Given the description of an element on the screen output the (x, y) to click on. 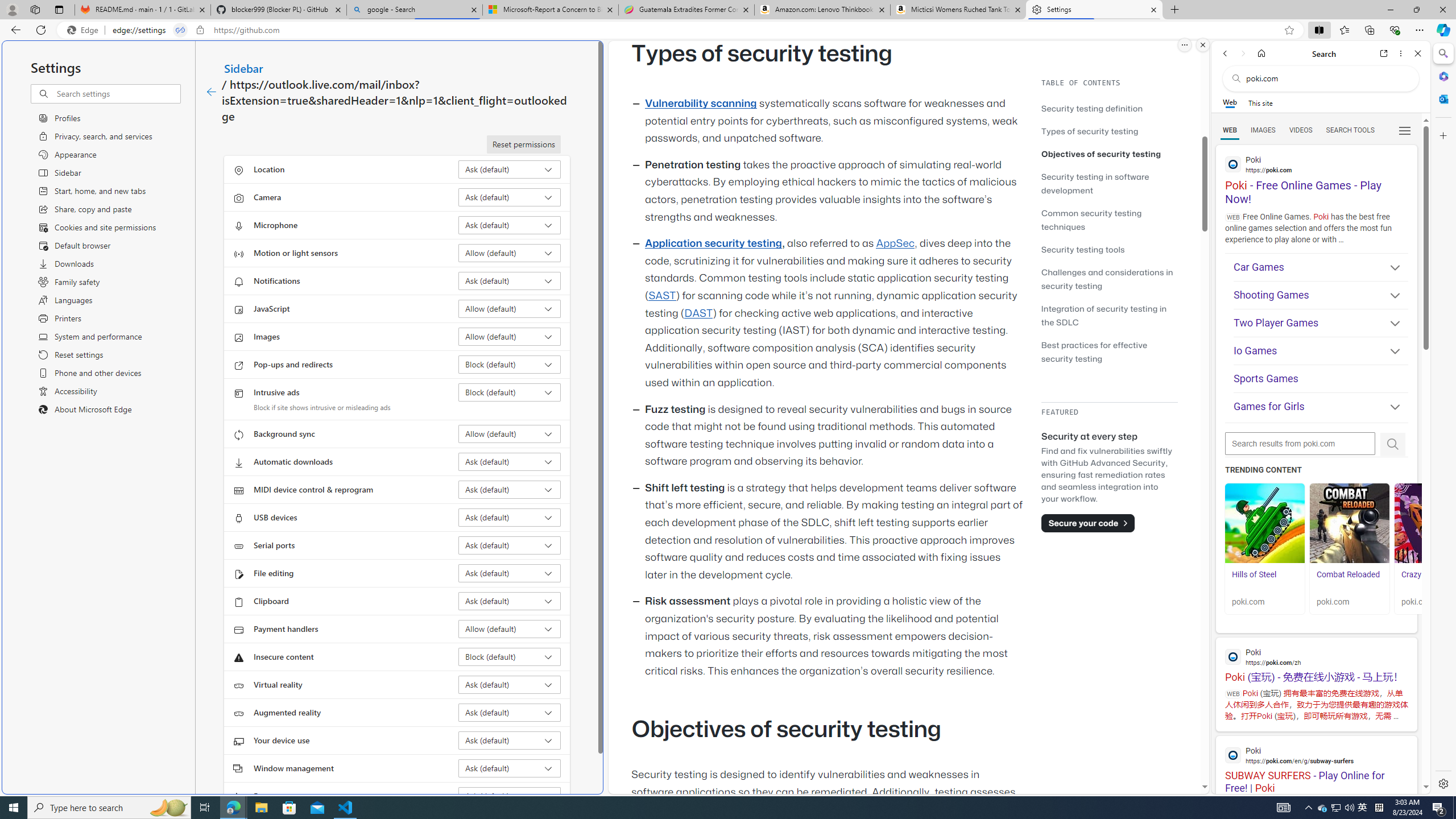
Your device use Ask (default) (509, 740)
SAST (661, 295)
Search Filter, WEB (1230, 129)
